Given the description of an element on the screen output the (x, y) to click on. 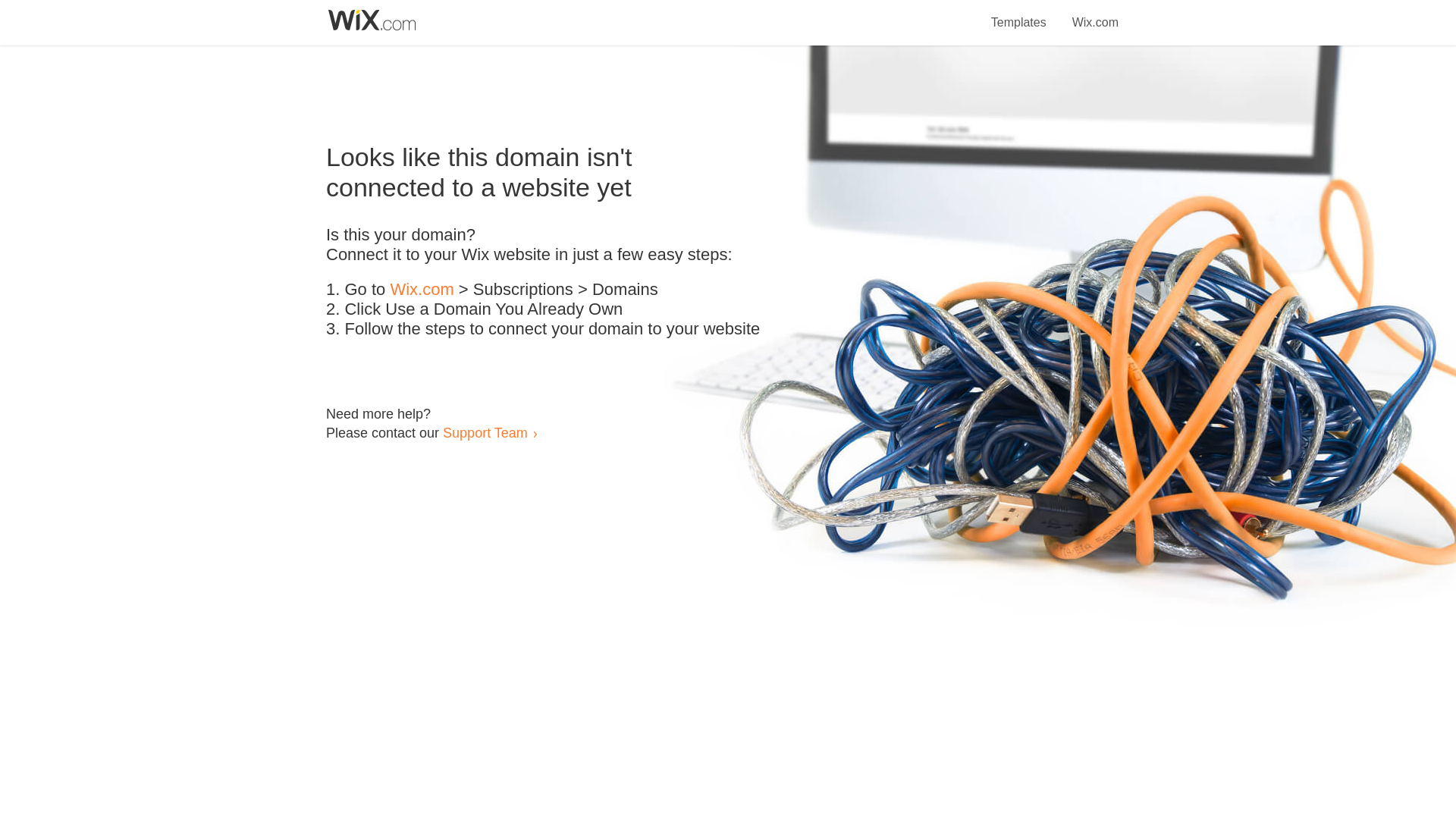
Templates (1018, 14)
Support Team (484, 432)
Wix.com (1095, 14)
Wix.com (421, 289)
